Given the description of an element on the screen output the (x, y) to click on. 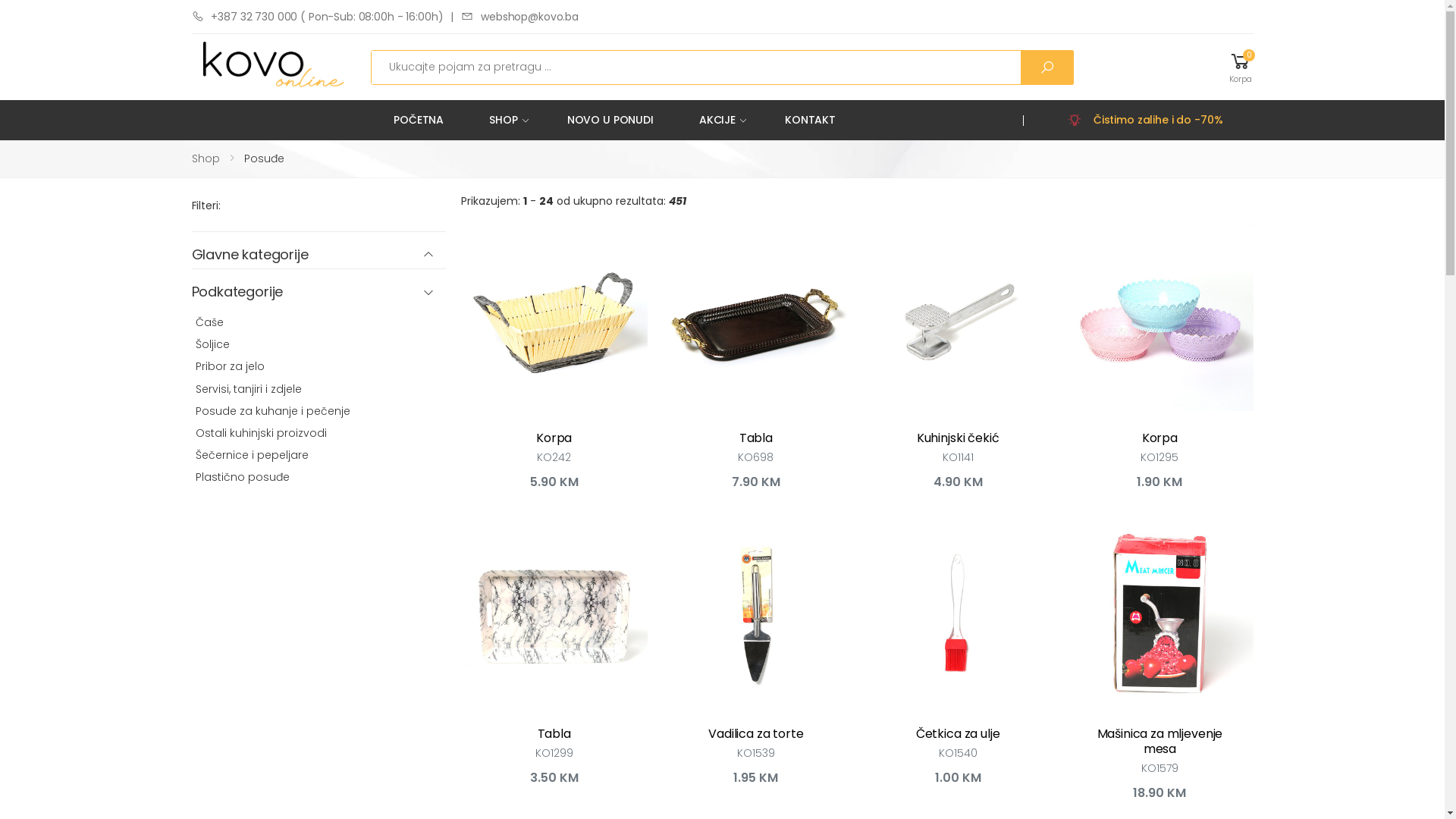
NOVO U PONUDI Element type: text (614, 120)
0
Korpa Element type: text (1240, 66)
Ostali kuhinjski proizvodi Element type: text (260, 432)
Tabla Element type: text (554, 733)
Glavne kategorije Element type: text (318, 255)
+387 32 730 000
( Pon-Sub: 08:00h - 16:00h) Element type: text (316, 16)
KONTAKT Element type: text (813, 120)
Servisi, tanjiri i zdjele Element type: text (248, 387)
AKCIJE Element type: text (722, 120)
Korpa Element type: text (1159, 437)
Pribor za jelo Element type: text (229, 365)
Vadilica za torte Element type: text (755, 733)
Tabla Element type: text (755, 437)
SHOP Element type: text (508, 120)
Korpa Element type: text (553, 437)
webshop@kovo.ba Element type: text (519, 16)
Podkategorije Element type: text (318, 292)
